Given the description of an element on the screen output the (x, y) to click on. 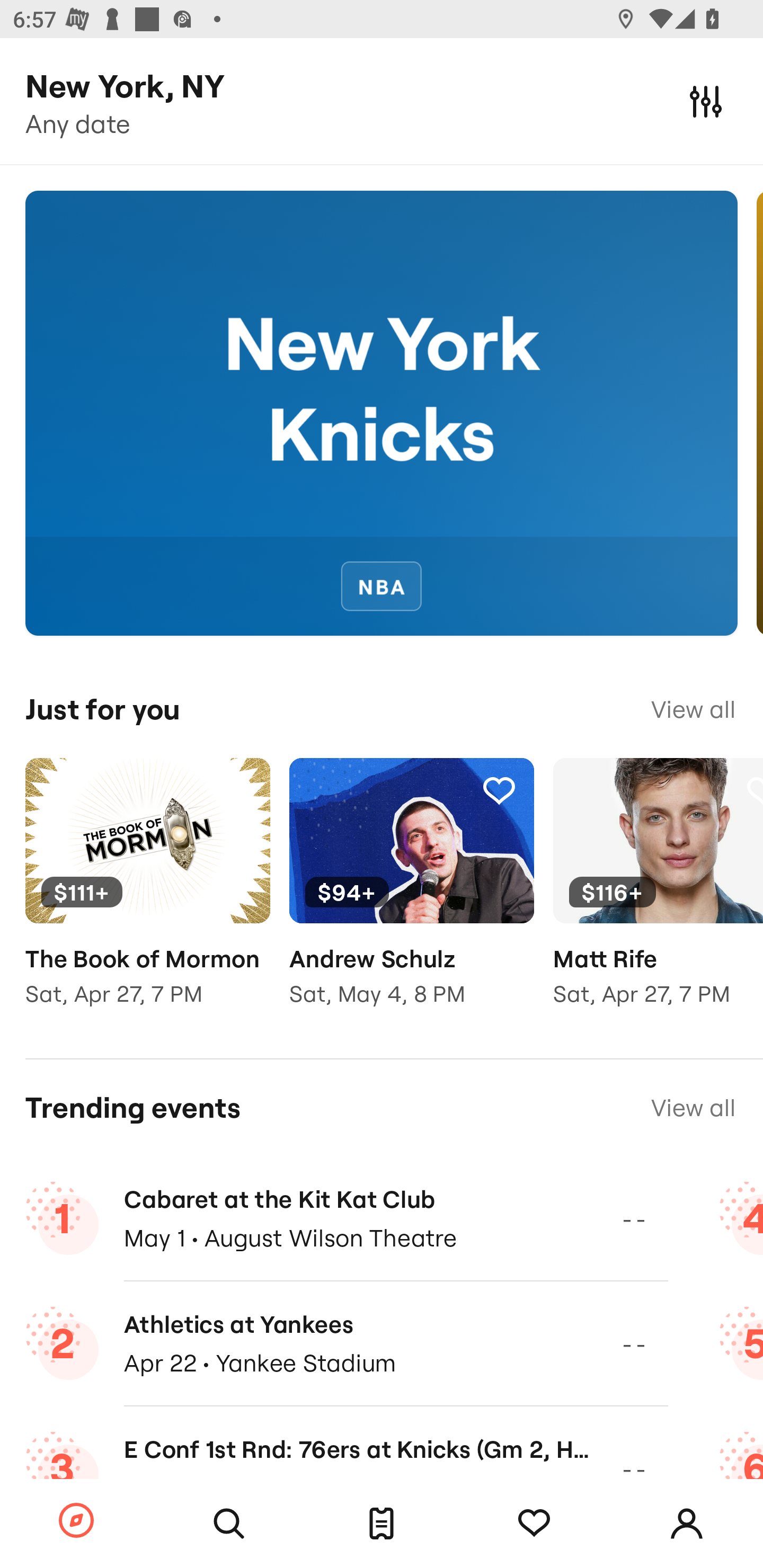
Filters (705, 100)
View all (693, 709)
Tracking $94+ Andrew Schulz Sat, May 4, 8 PM (411, 895)
Tracking $116+ Matt Rife Sat, Apr 27, 7 PM (658, 895)
Tracking (234, 790)
Tracking (498, 790)
Browse (76, 1521)
Search (228, 1523)
Tickets (381, 1523)
Tracking (533, 1523)
Account (686, 1523)
